Given the description of an element on the screen output the (x, y) to click on. 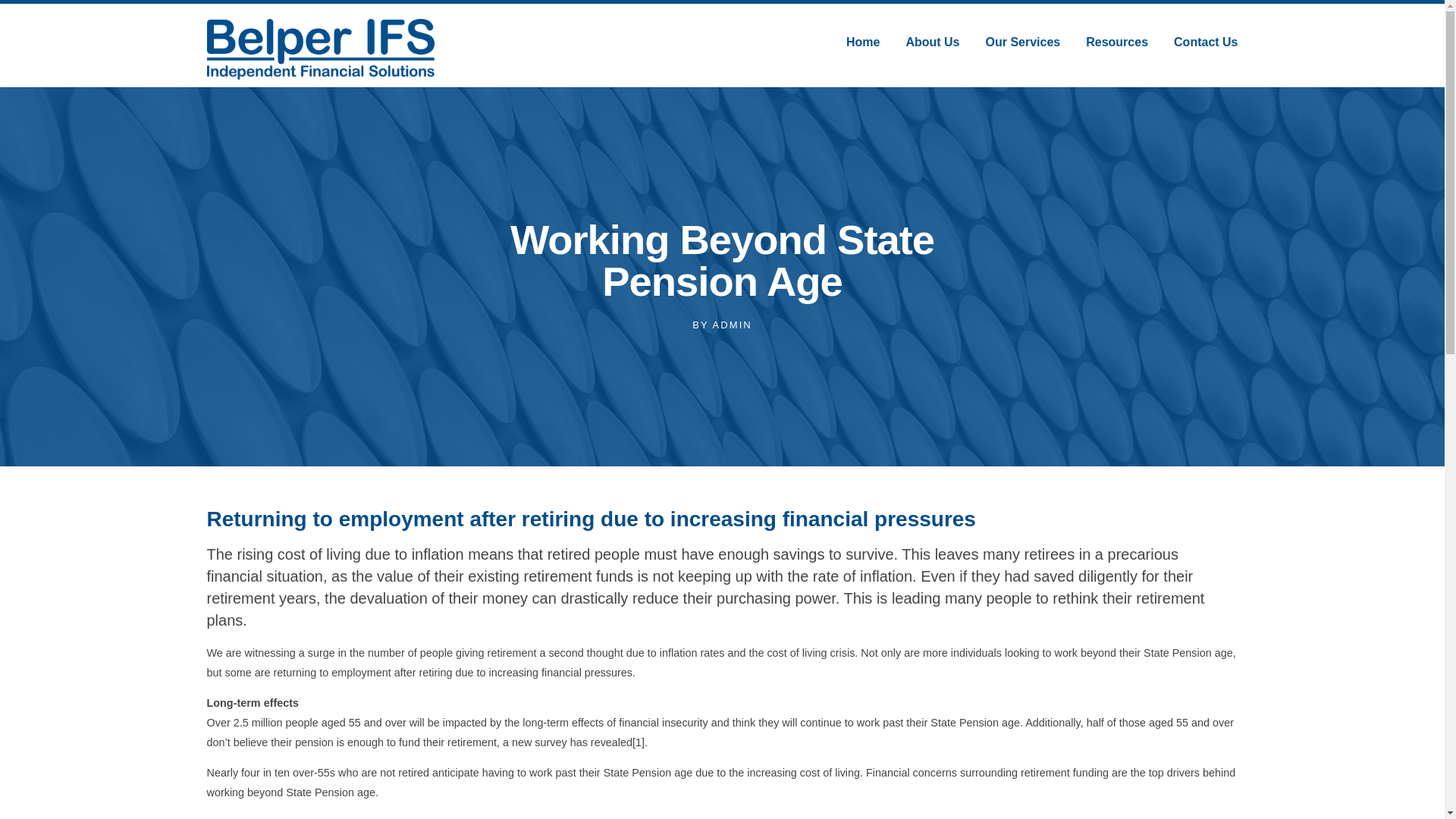
BY ADMIN (722, 324)
Our Services (1022, 41)
Contact Us (1205, 41)
About Us (932, 41)
Resources (1117, 41)
